Given the description of an element on the screen output the (x, y) to click on. 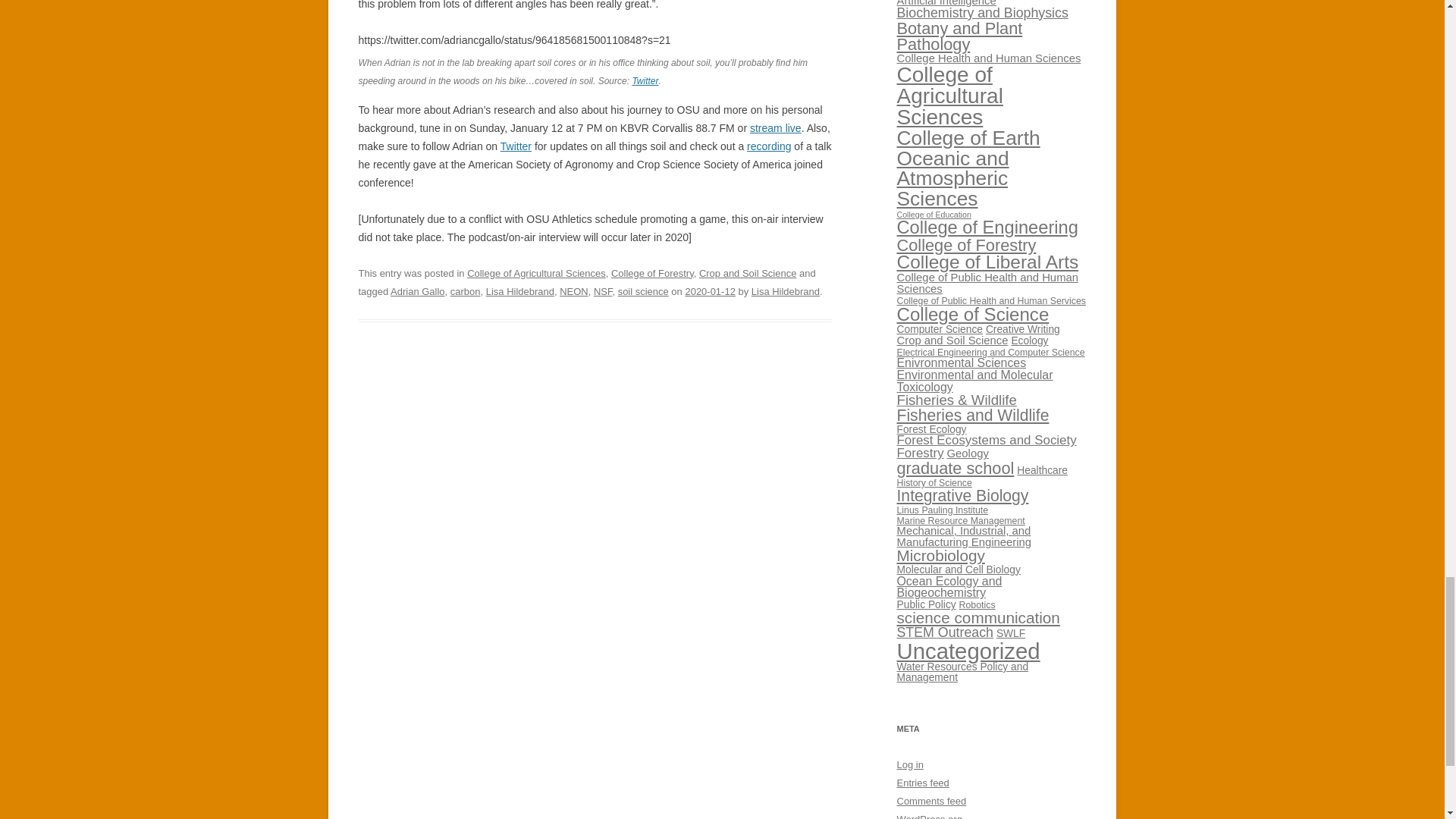
Crop and Soil Science (747, 273)
NEON (573, 291)
Adrian Gallo (417, 291)
College of Forestry (652, 273)
Lisa Hildebrand (520, 291)
College of Agricultural Sciences (536, 273)
carbon (464, 291)
3:20 pm (709, 291)
2020-01-12 (709, 291)
Twitter (515, 146)
View all posts by Lisa Hildebrand (785, 291)
soil science (642, 291)
NSF (603, 291)
Lisa Hildebrand (785, 291)
Twitter (644, 81)
